Given the description of an element on the screen output the (x, y) to click on. 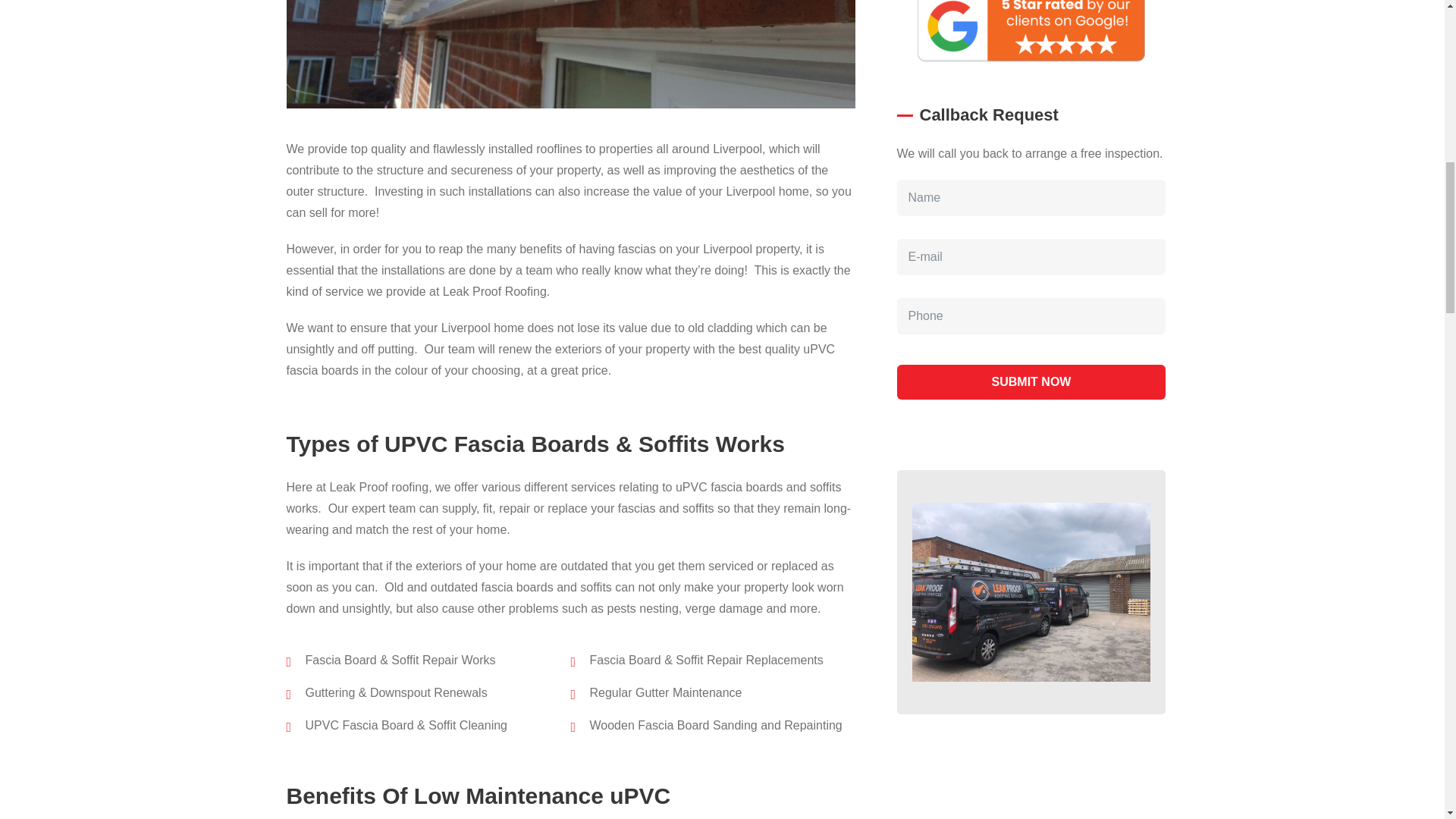
SUBMIT NOW (1031, 381)
